Given the description of an element on the screen output the (x, y) to click on. 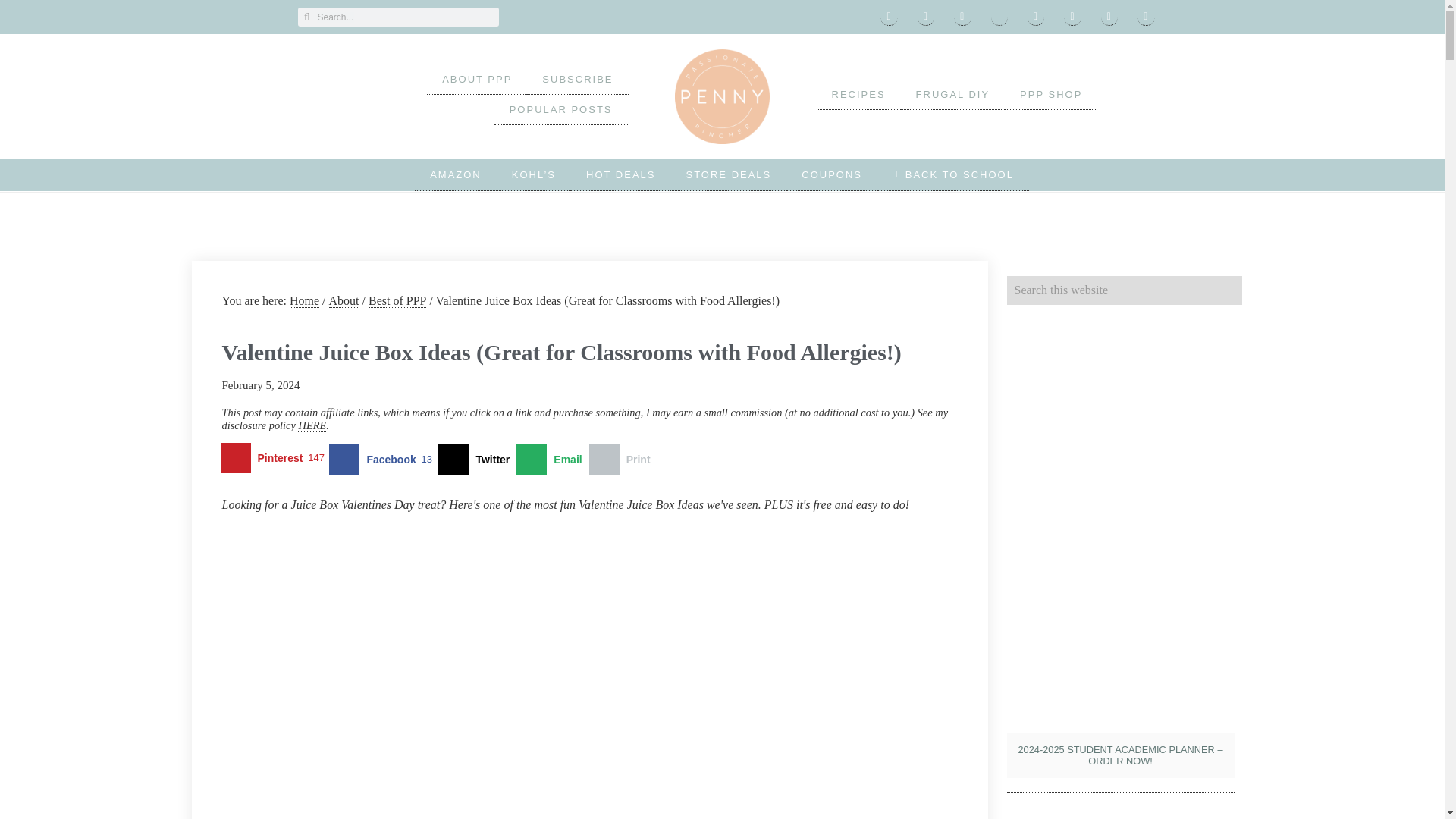
Send over email (552, 459)
FRUGAL DIY (953, 94)
Print this webpage (623, 459)
Share on X (477, 459)
AMAZON (455, 174)
Save to Pinterest (275, 459)
RECIPES (857, 94)
ABOUT PPP (476, 79)
POPULAR POSTS (561, 110)
